Given the description of an element on the screen output the (x, y) to click on. 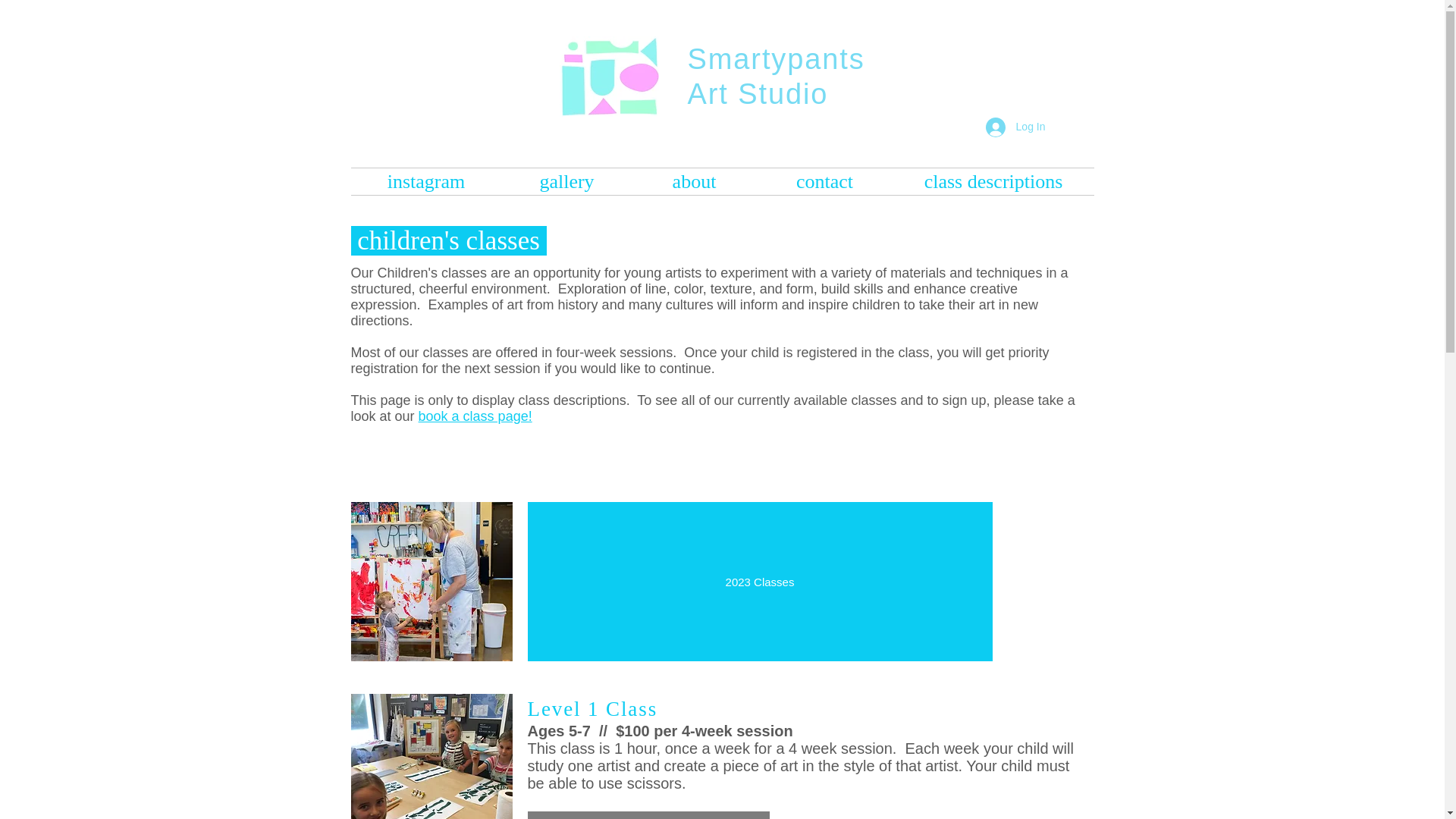
contact (825, 181)
class descriptions (993, 181)
about (694, 181)
Log In (1016, 127)
Art Studio (757, 93)
Smartypants  (781, 59)
book a class page! (475, 416)
instagram (425, 181)
gallery (566, 181)
